Given the description of an element on the screen output the (x, y) to click on. 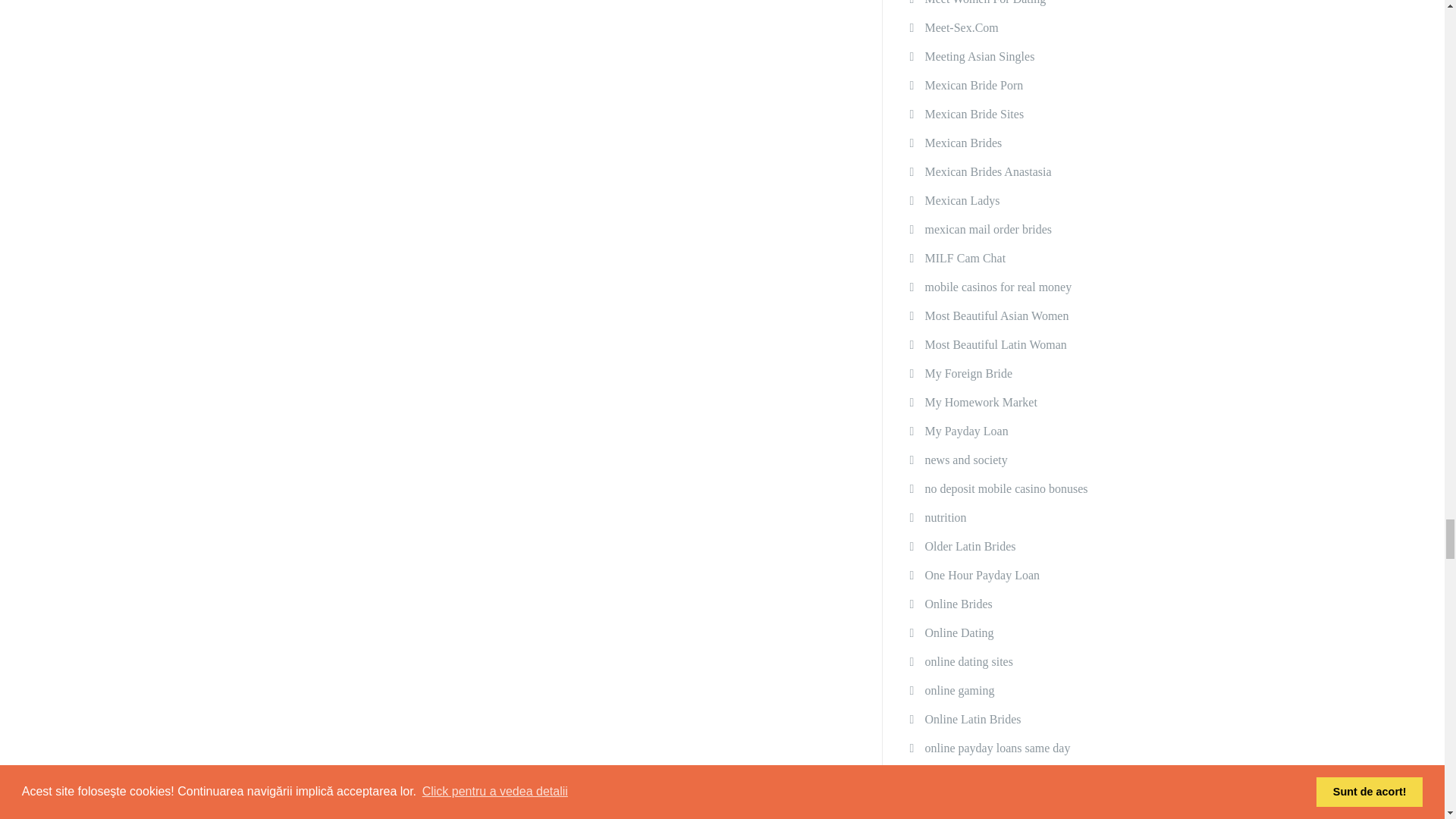
nutrition (945, 517)
news and society (965, 460)
online gaming (959, 690)
